Given the description of an element on the screen output the (x, y) to click on. 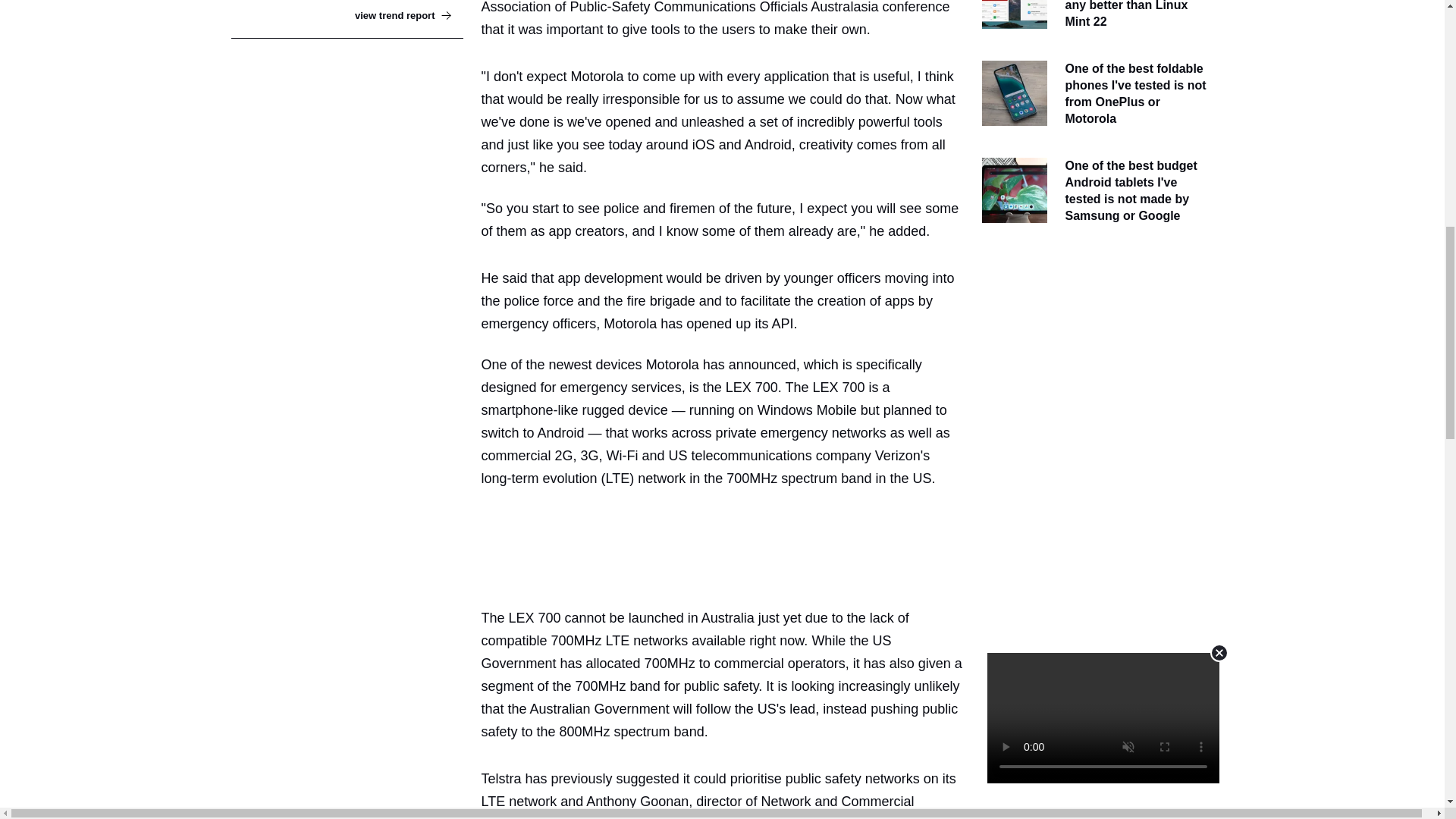
3rd party ad content (727, 548)
